Given the description of an element on the screen output the (x, y) to click on. 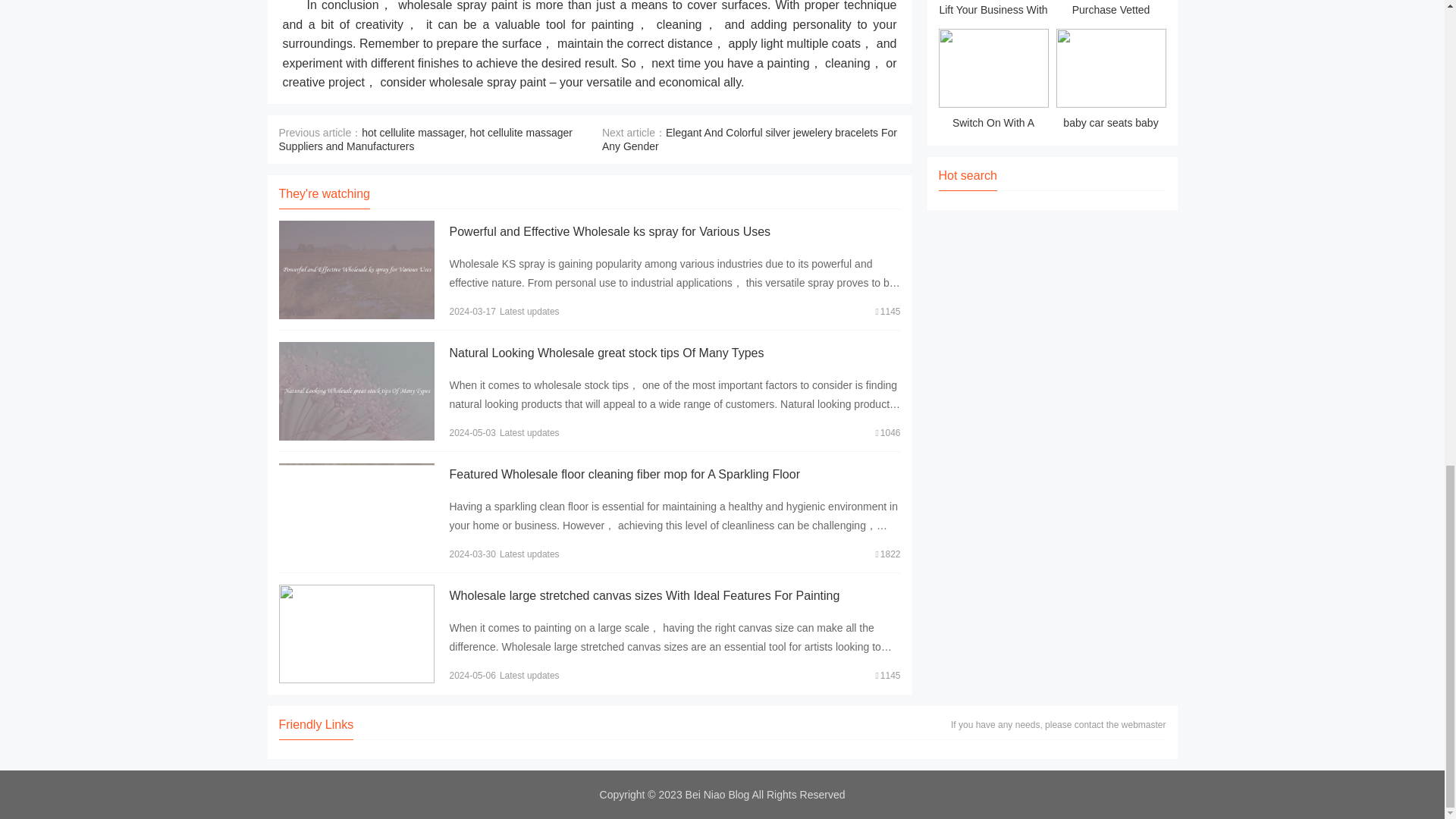
Powerful and Effective Wholesale ks spray for Various Uses (609, 231)
baby car seats baby car seats Suppliers and Manufacturers (1110, 81)
Natural Looking Wholesale great stock tips Of Many Types (605, 352)
Switch On With A Wholesale ds2e s dc24v relay (993, 81)
Lift Your Business With a Wholesale vacuum box lifter (993, 10)
